Given the description of an element on the screen output the (x, y) to click on. 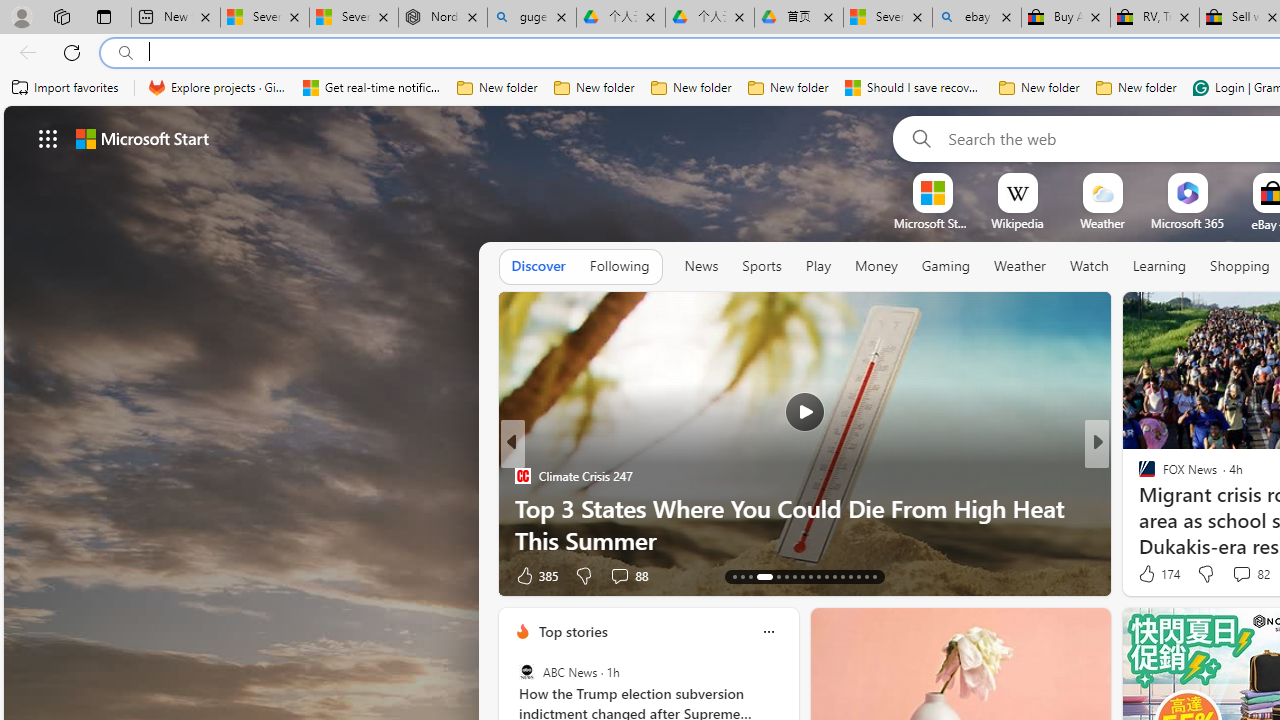
View comments 19 Comment (1237, 574)
15 Like (1149, 574)
View comments 88 Comment (628, 574)
AutomationID: tab-22 (818, 576)
New folder (1136, 88)
Sports (761, 265)
Climate Crisis 247 (522, 475)
View comments 82 Comment (1241, 573)
AutomationID: tab-26 (850, 576)
